Given the description of an element on the screen output the (x, y) to click on. 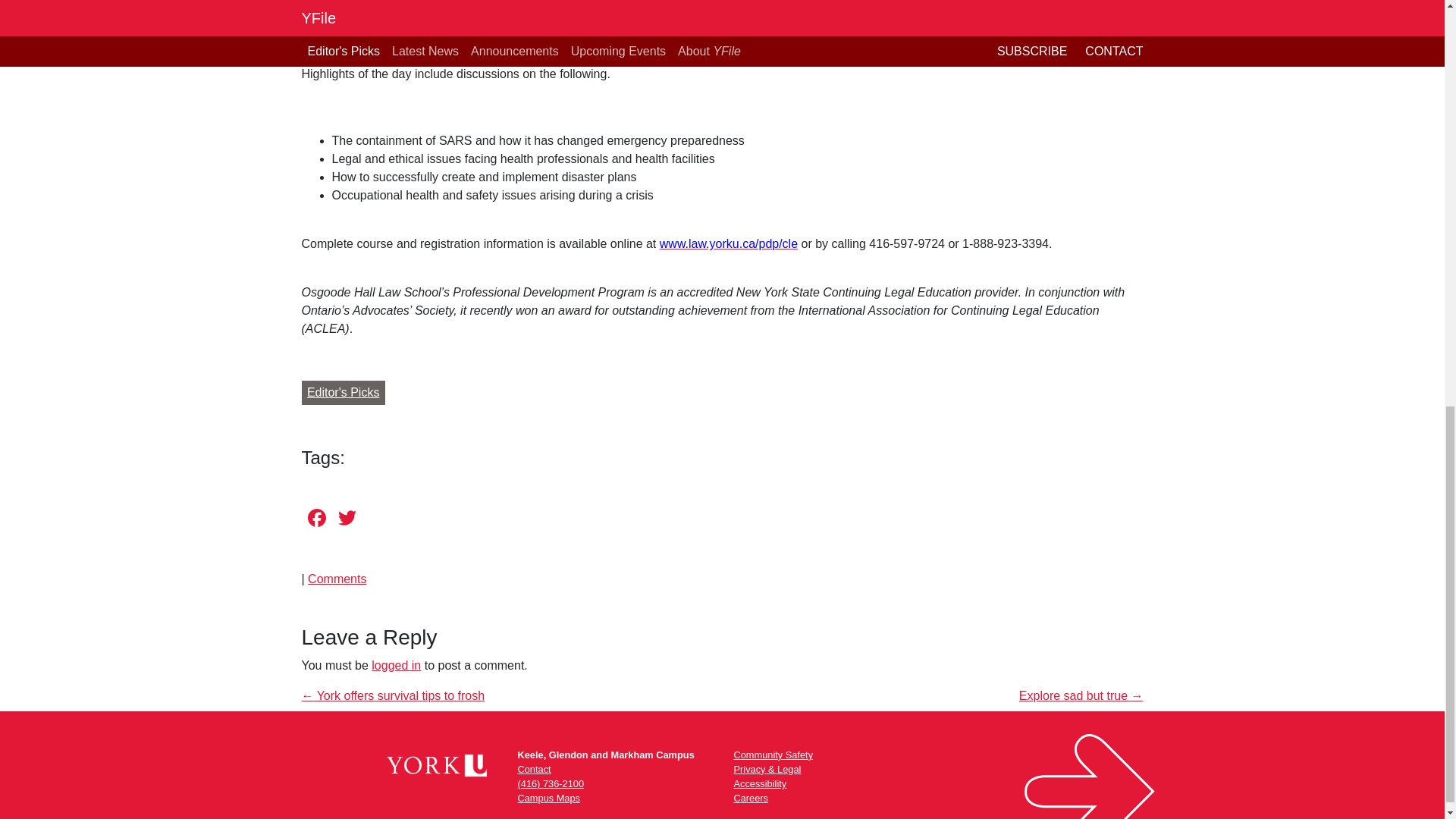
Comments (336, 578)
logged in (395, 665)
Email (377, 519)
Editor's Picks (343, 392)
Twitter (346, 519)
Facebook (316, 519)
Share (408, 519)
Twitter (346, 519)
Facebook (316, 519)
Email (377, 519)
